Given the description of an element on the screen output the (x, y) to click on. 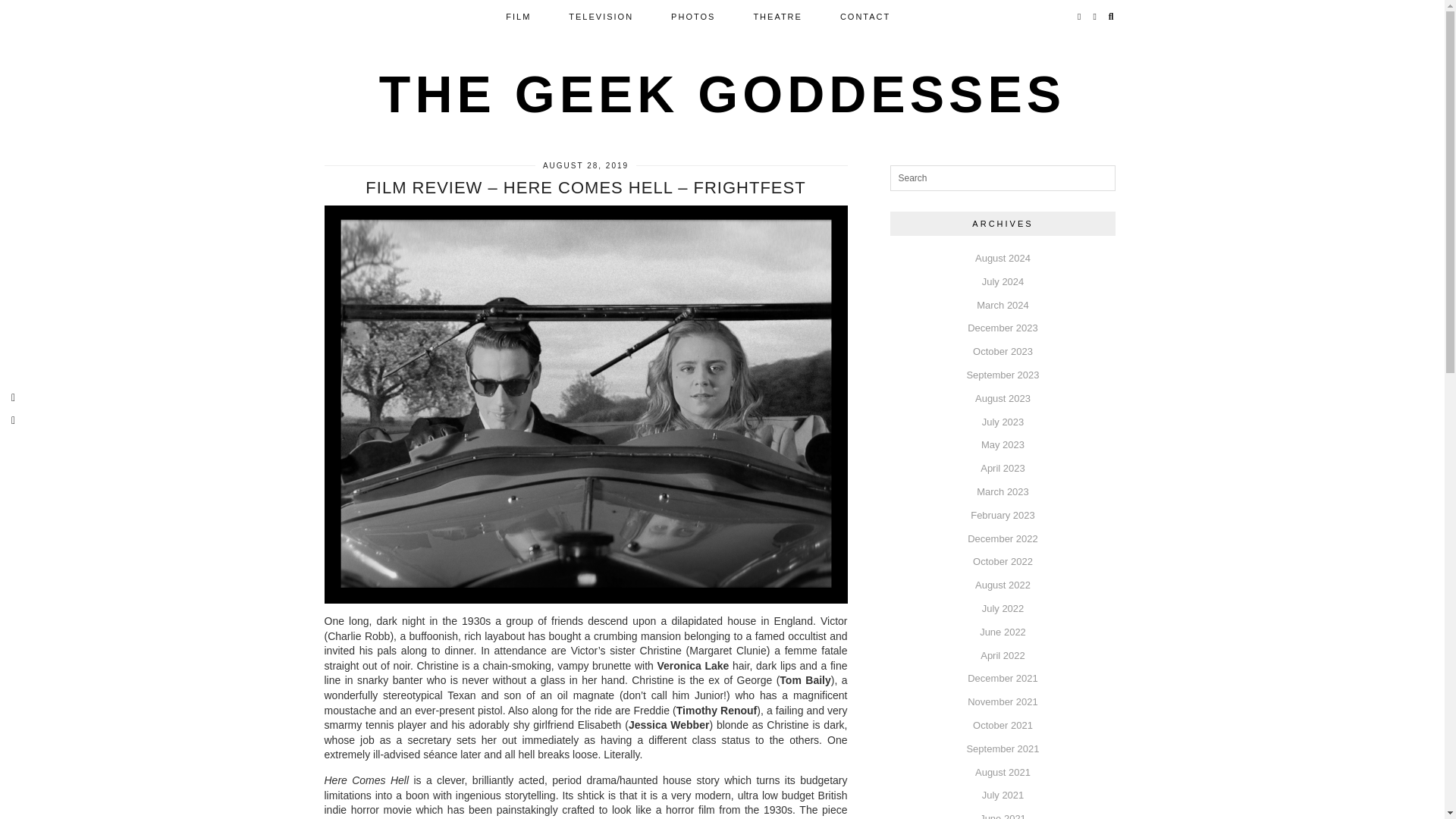
FILM (518, 16)
THE GEEK GODDESSES (721, 93)
The Geek Goddesses (721, 93)
THEATRE (777, 16)
PHOTOS (692, 16)
CONTACT (864, 16)
TELEVISION (601, 16)
